Given the description of an element on the screen output the (x, y) to click on. 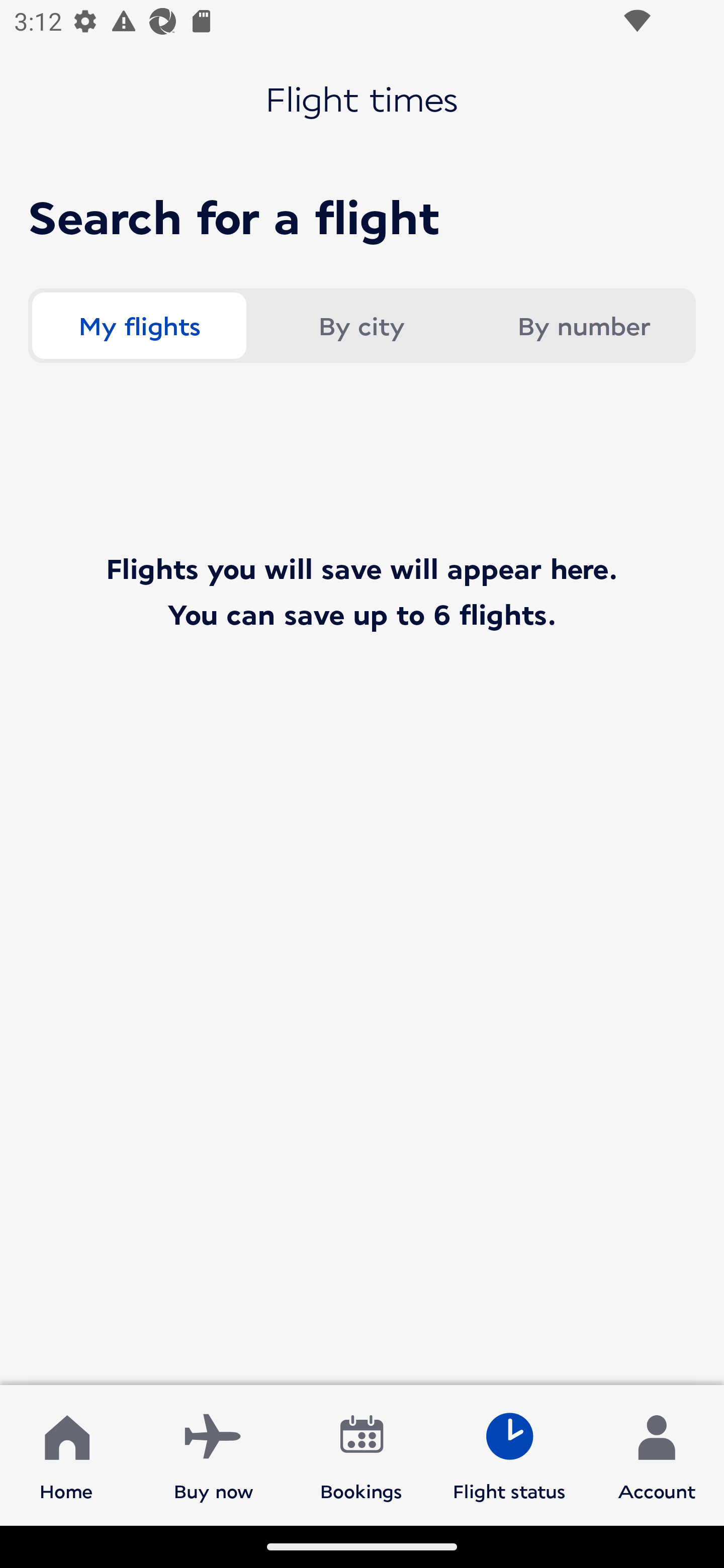
My flights (139, 325)
By city (361, 325)
By number (583, 325)
Home (66, 1454)
Buy now (213, 1454)
Bookings (361, 1454)
Account (657, 1454)
